Given the description of an element on the screen output the (x, y) to click on. 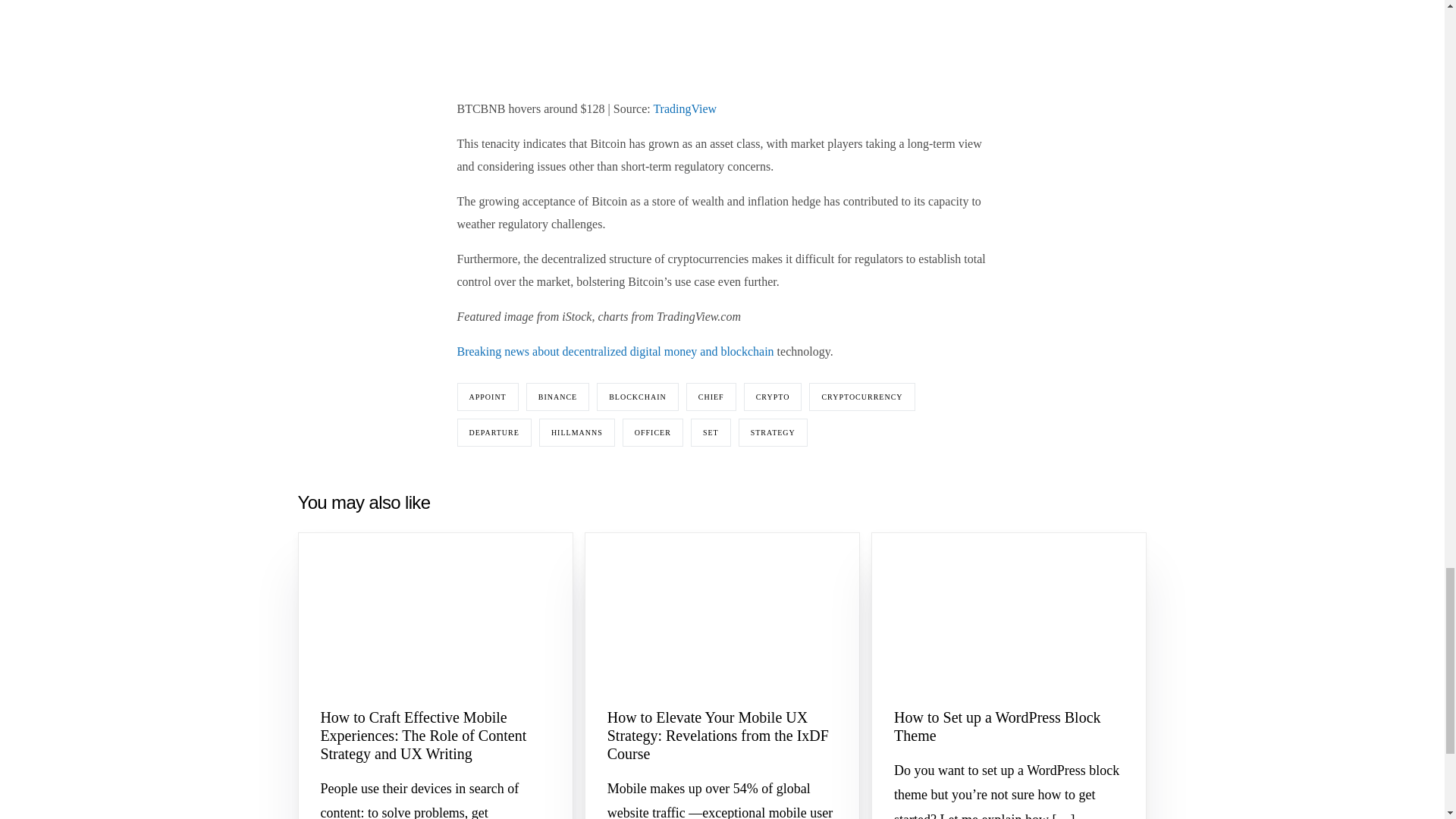
 View Post: How to Set up a WordPress Block Theme (1008, 611)
TradingView (684, 108)
